Given the description of an element on the screen output the (x, y) to click on. 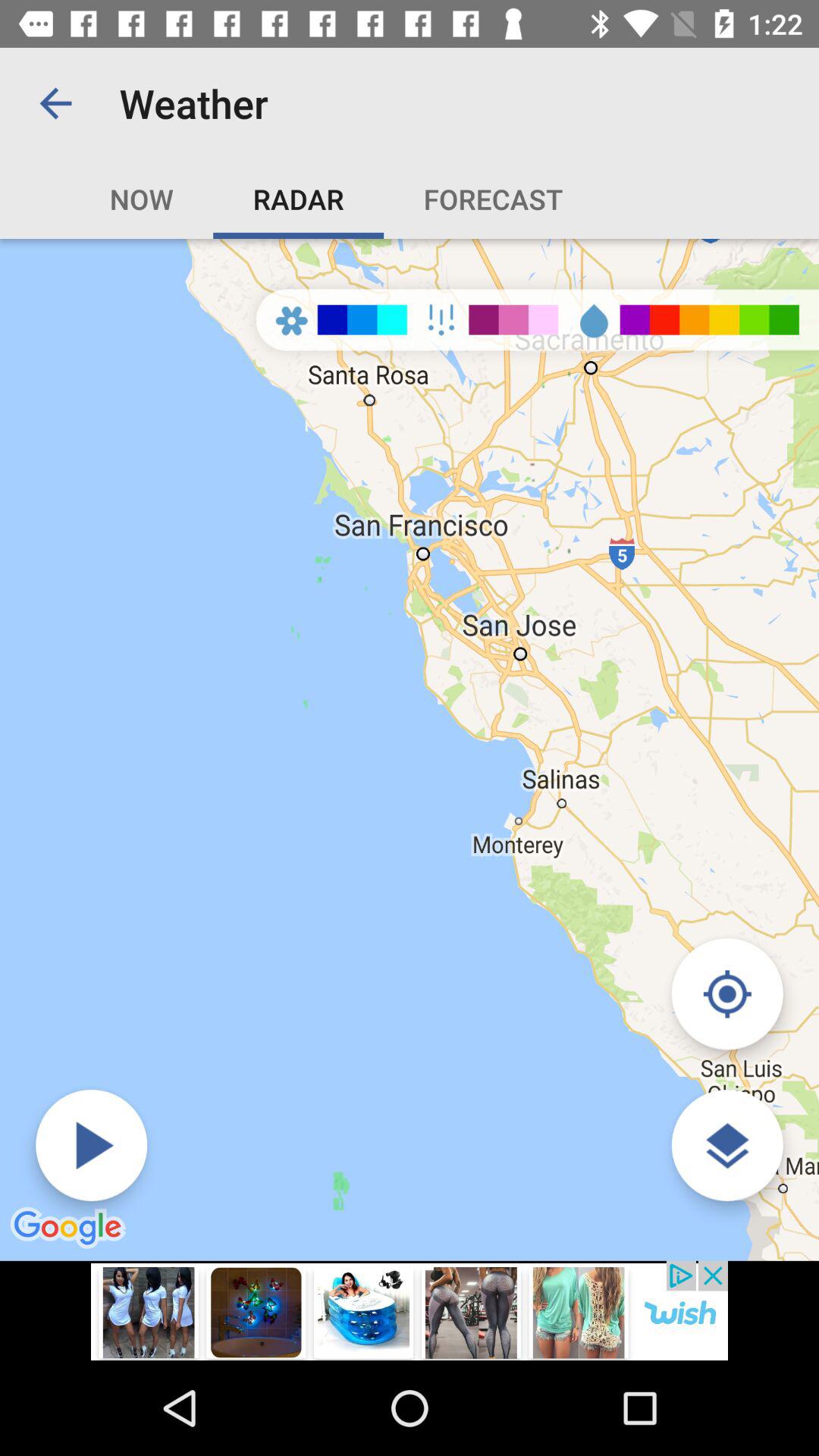
go to location option (727, 993)
